Given the description of an element on the screen output the (x, y) to click on. 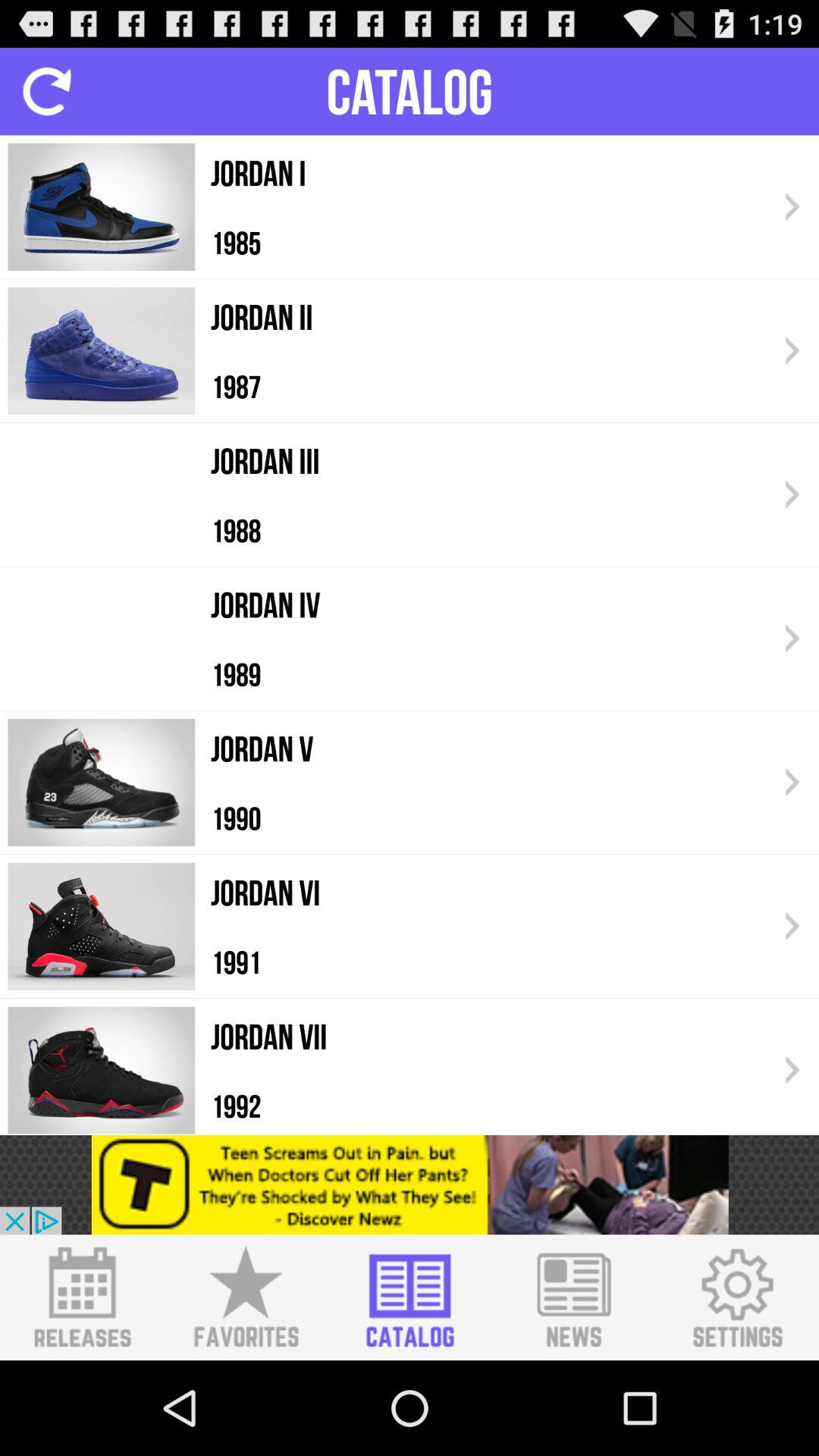
refresh catalog (46, 91)
